Given the description of an element on the screen output the (x, y) to click on. 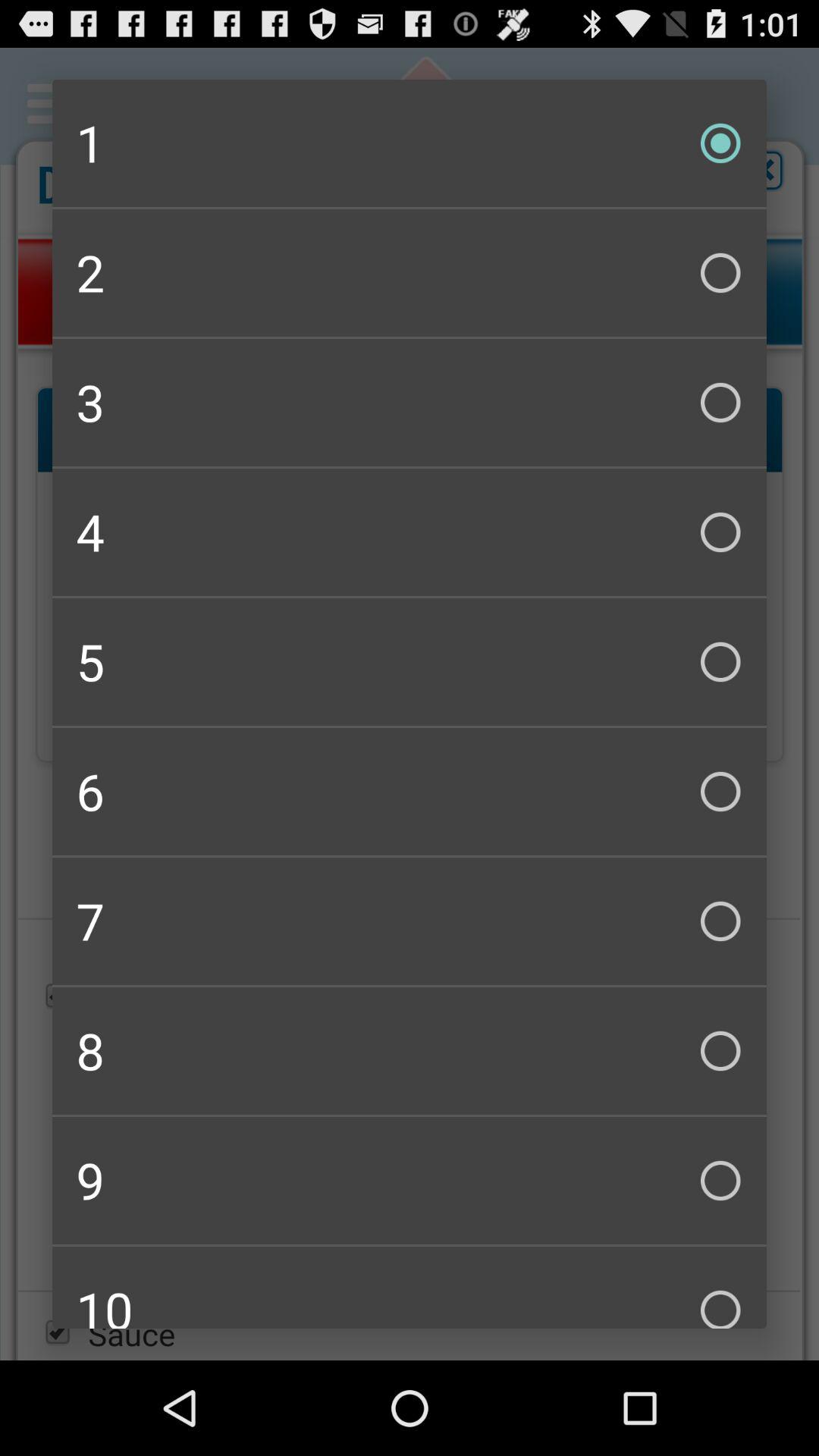
launch the icon below 6 (409, 921)
